Given the description of an element on the screen output the (x, y) to click on. 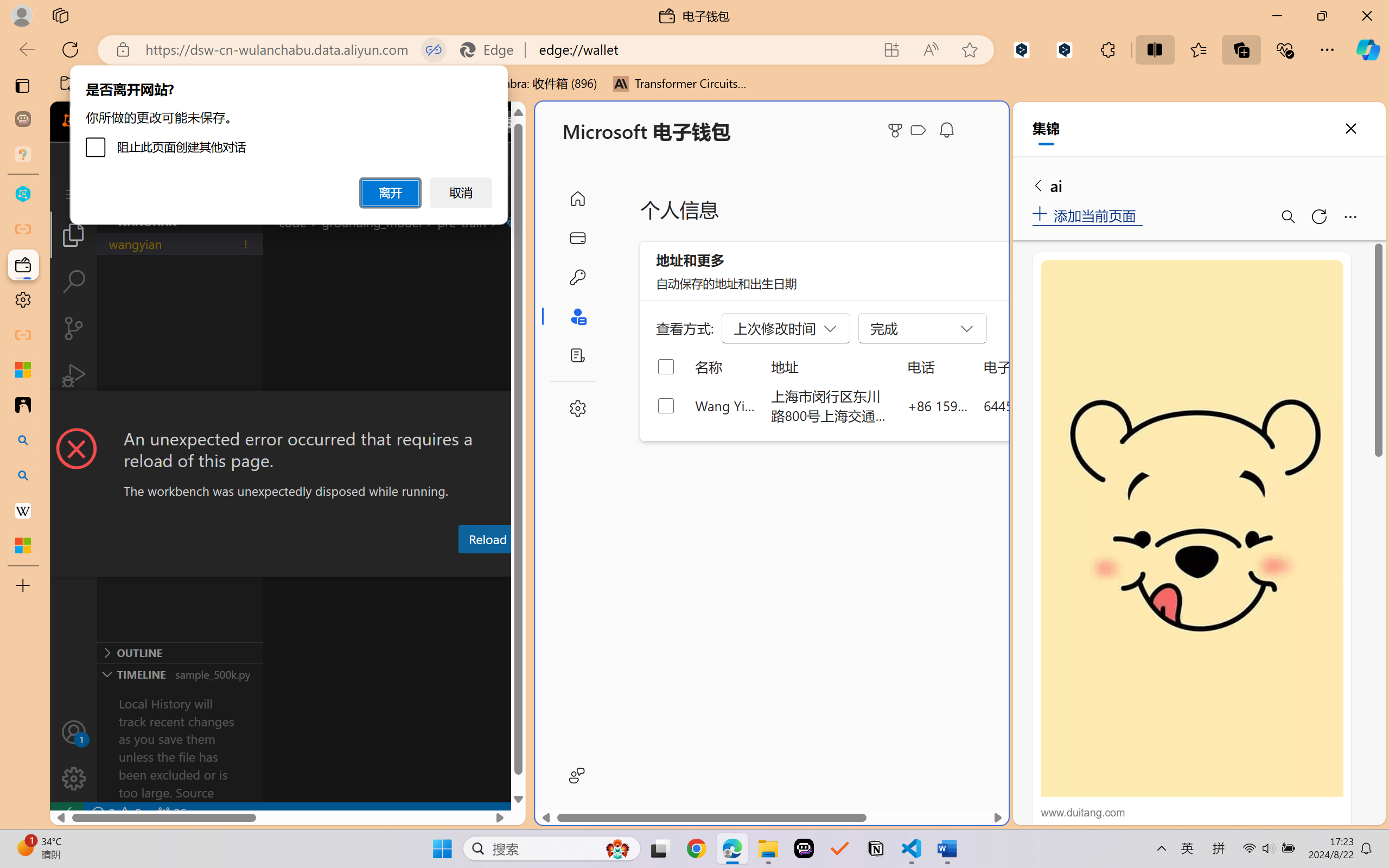
Copilot (Ctrl+Shift+.) (1368, 49)
